Given the description of an element on the screen output the (x, y) to click on. 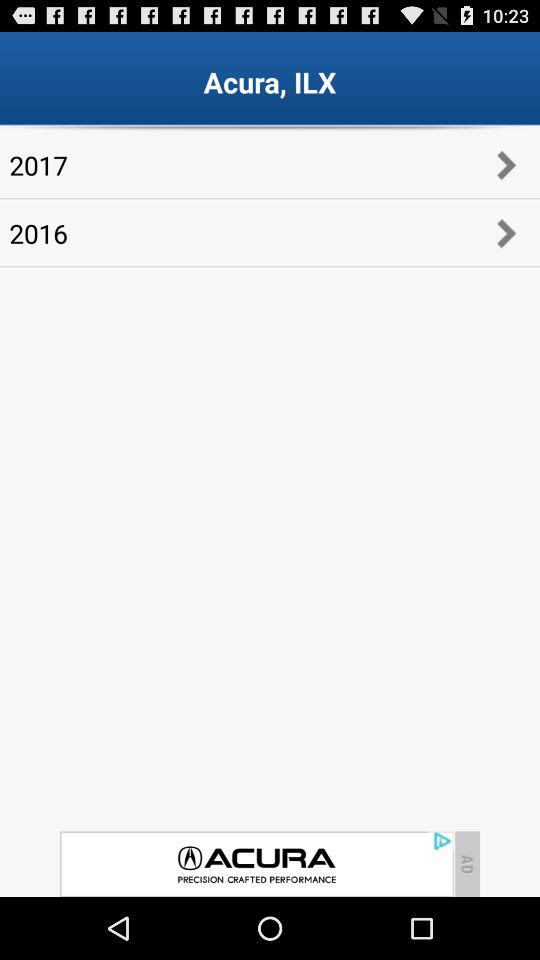
advertisement link to different site (256, 864)
